Given the description of an element on the screen output the (x, y) to click on. 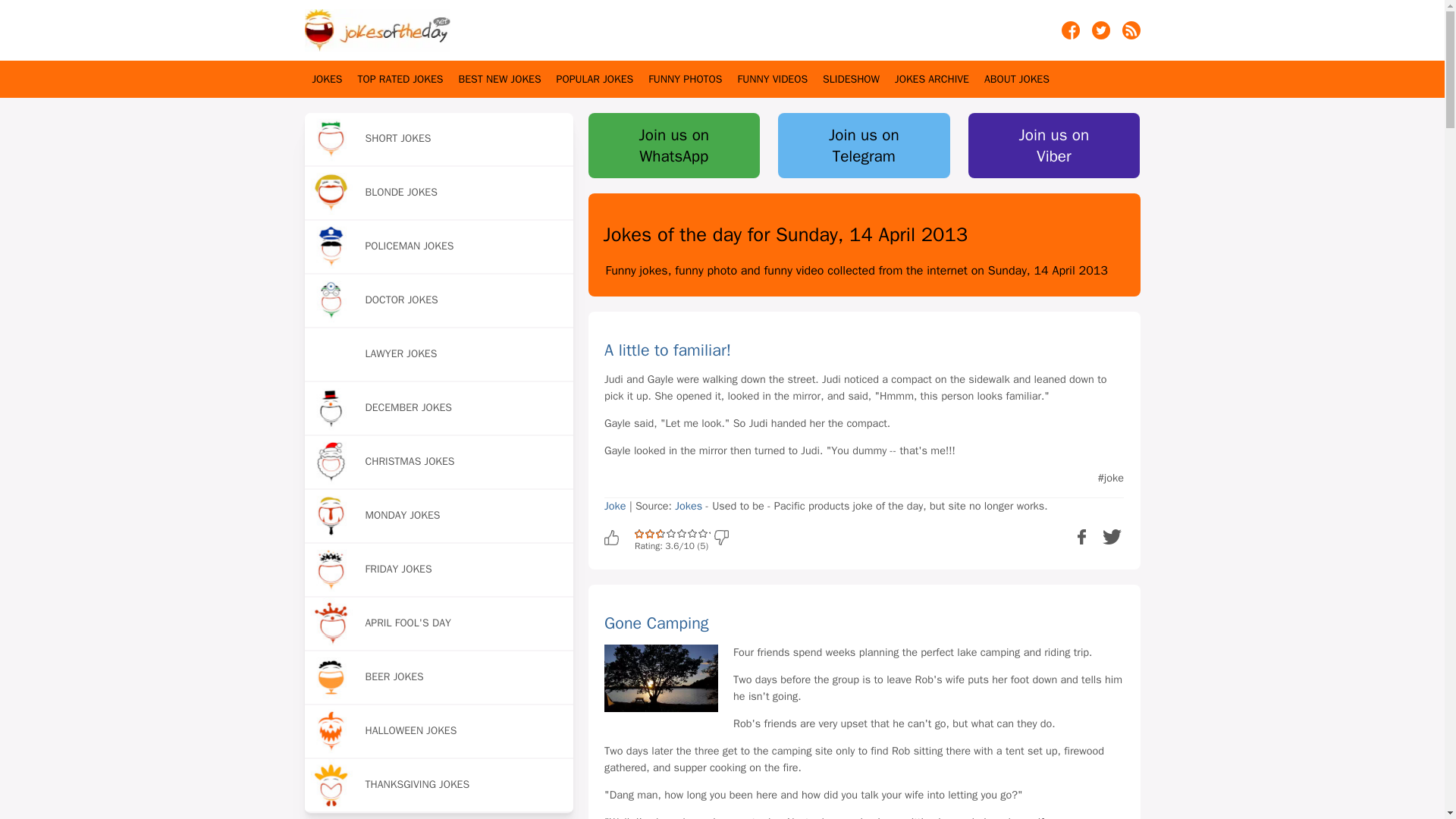
Jokes (689, 505)
FUNNY VIDEOS (772, 78)
Jokes of the day on RSS feed (1131, 35)
Jokes Of The Day (376, 29)
ABOUT JOKES (1016, 78)
Jokes (327, 78)
SLIDESHOW (850, 78)
About Jokes (1016, 78)
The best jokes in the last 4 weeks (499, 78)
Like (617, 537)
